Given the description of an element on the screen output the (x, y) to click on. 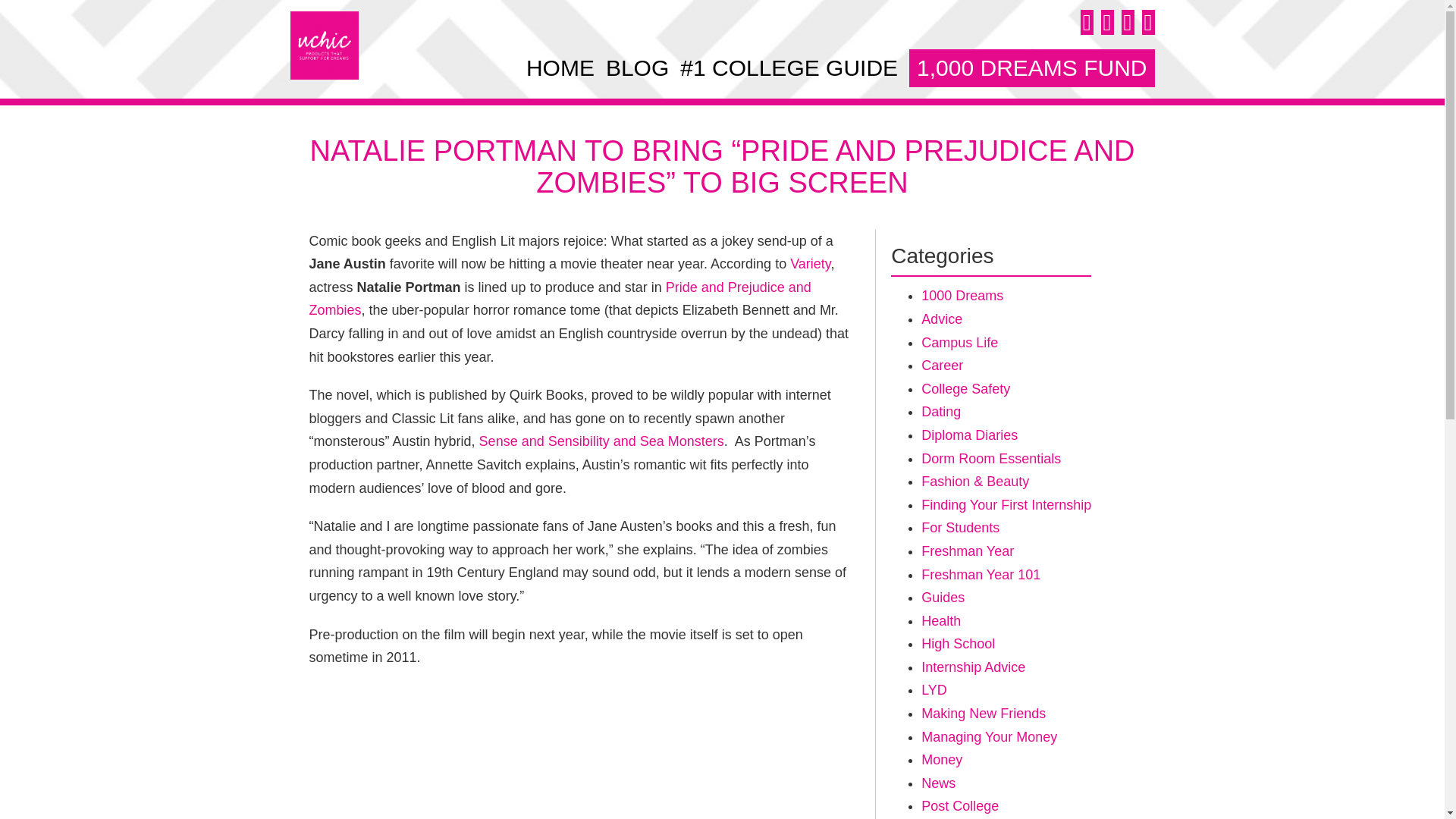
Blog (636, 67)
News (938, 783)
Managing Your Money (989, 736)
Internship Advice (973, 667)
Sense and Sensibility and Sea Monsters (601, 441)
Freshman Year (967, 550)
Dating (940, 411)
High School (957, 643)
For Students (959, 527)
1,000 DREAMS FUND (1031, 67)
1,000 Dreams Fund (1031, 67)
Career (941, 365)
Finding Your First Internship (1005, 504)
Home (559, 67)
Freshman Year 101 (981, 574)
